Given the description of an element on the screen output the (x, y) to click on. 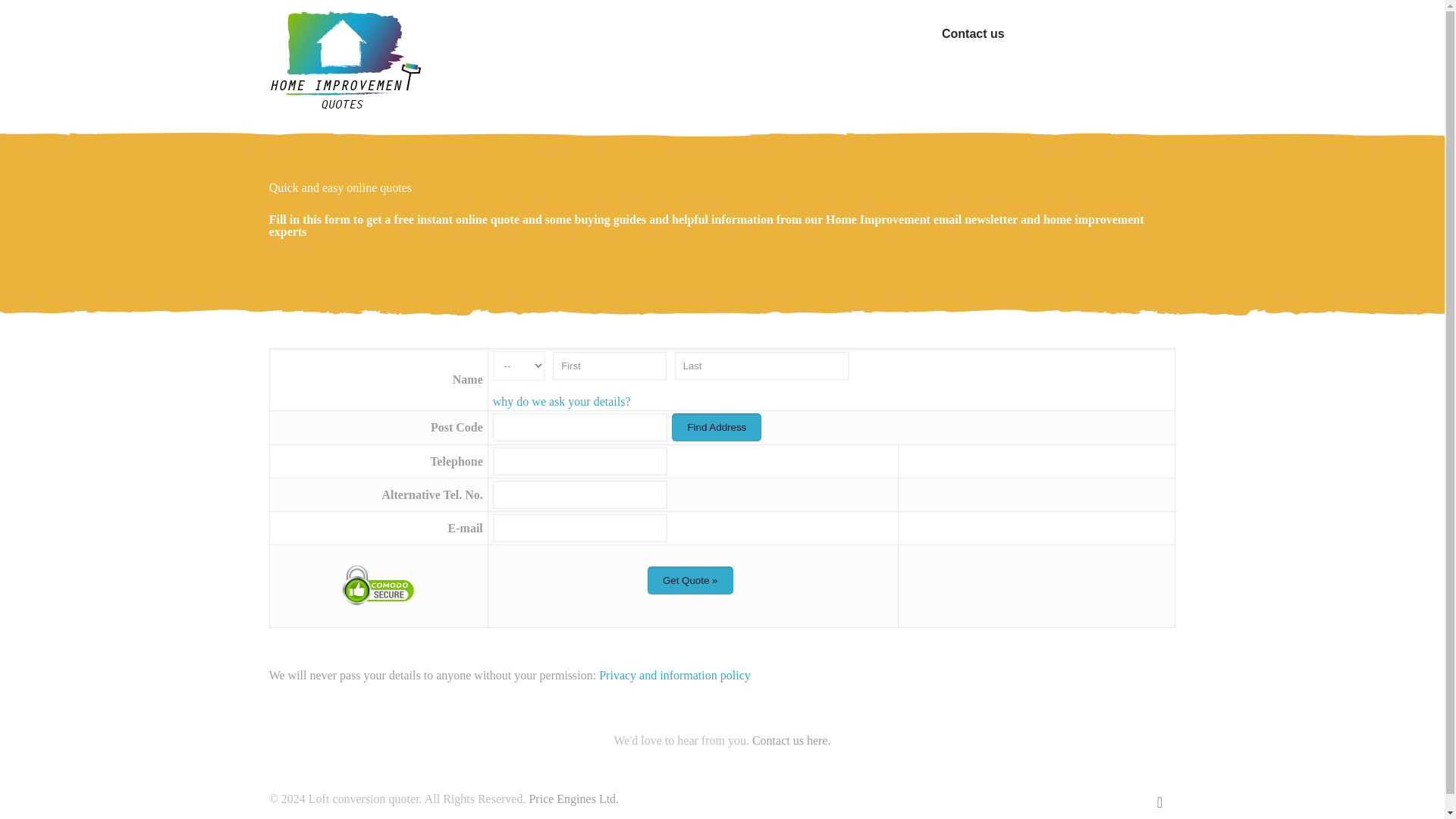
Find Address (716, 427)
Privacy and information policy (674, 675)
Price Engines Ltd. (573, 798)
Contact us here. (791, 739)
Loft conversion quoter (344, 61)
why do we ask your details? (561, 400)
Contact us (973, 33)
